Given the description of an element on the screen output the (x, y) to click on. 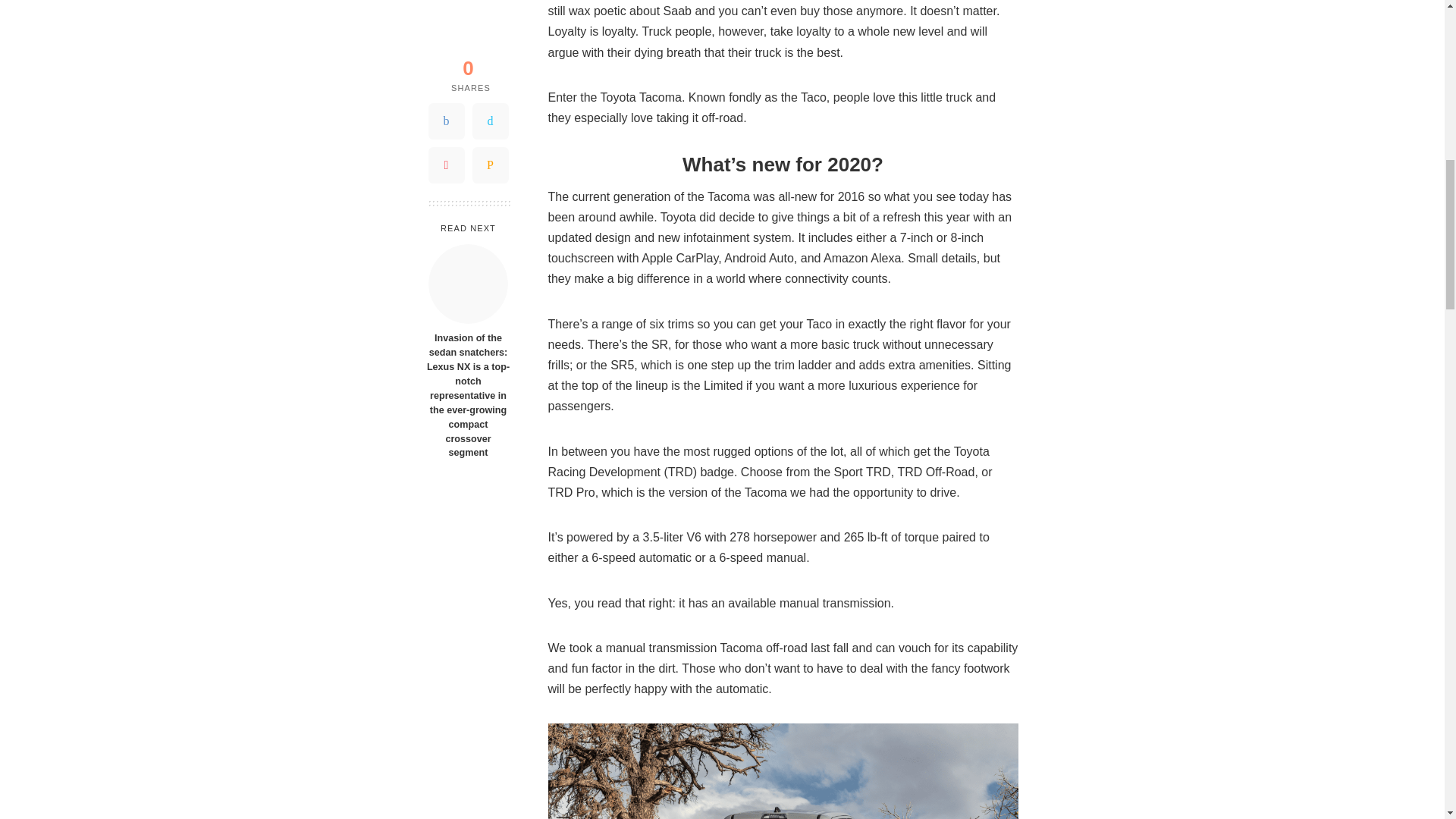
Pinterest (446, 14)
Email (489, 14)
